Given the description of an element on the screen output the (x, y) to click on. 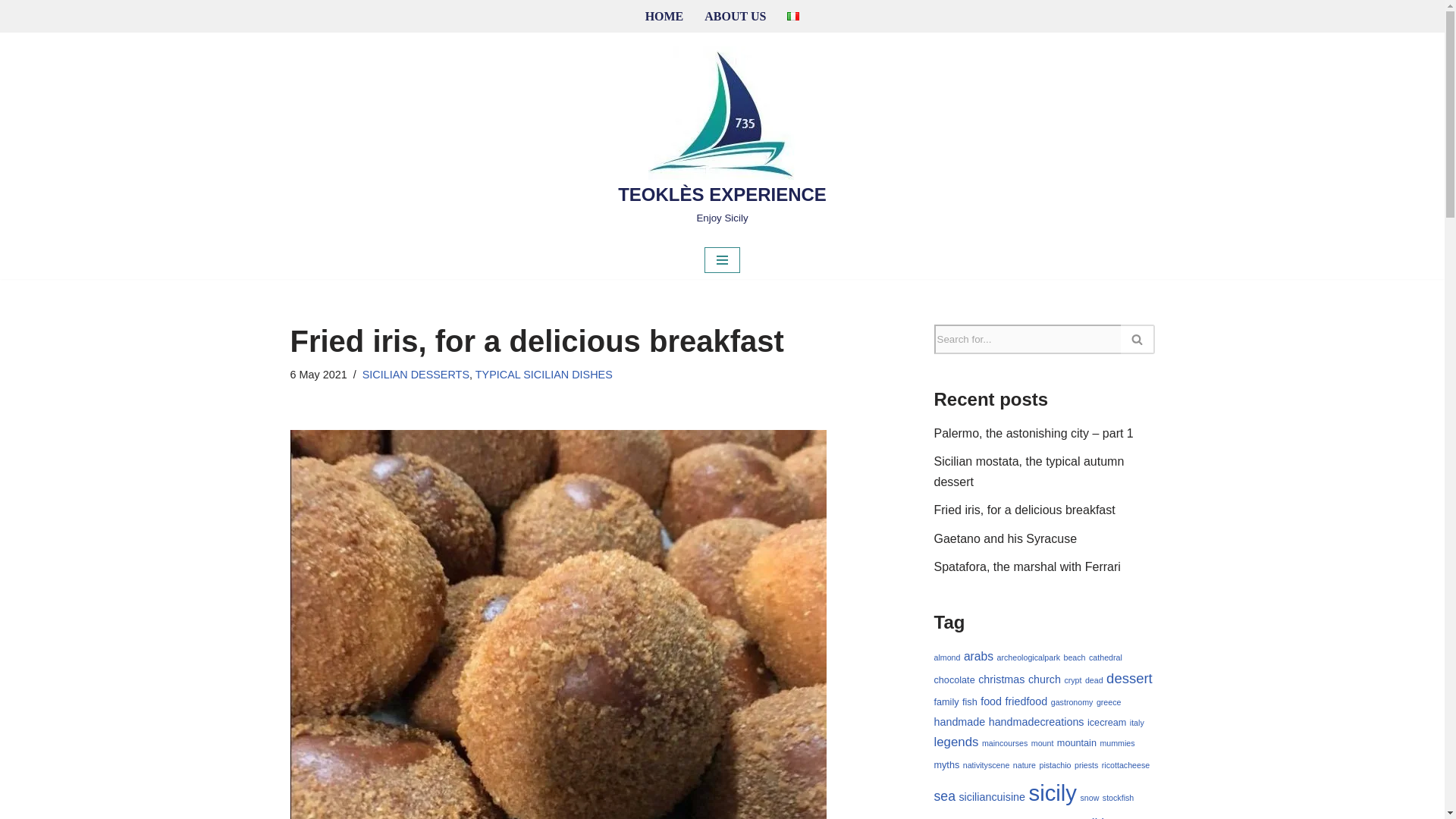
HOME (664, 15)
TYPICAL SICILIAN DISHES (544, 374)
Skip to content (11, 31)
SICILIAN DESSERTS (415, 374)
Navigation Menu (721, 259)
ABOUT US (734, 15)
